Given the description of an element on the screen output the (x, y) to click on. 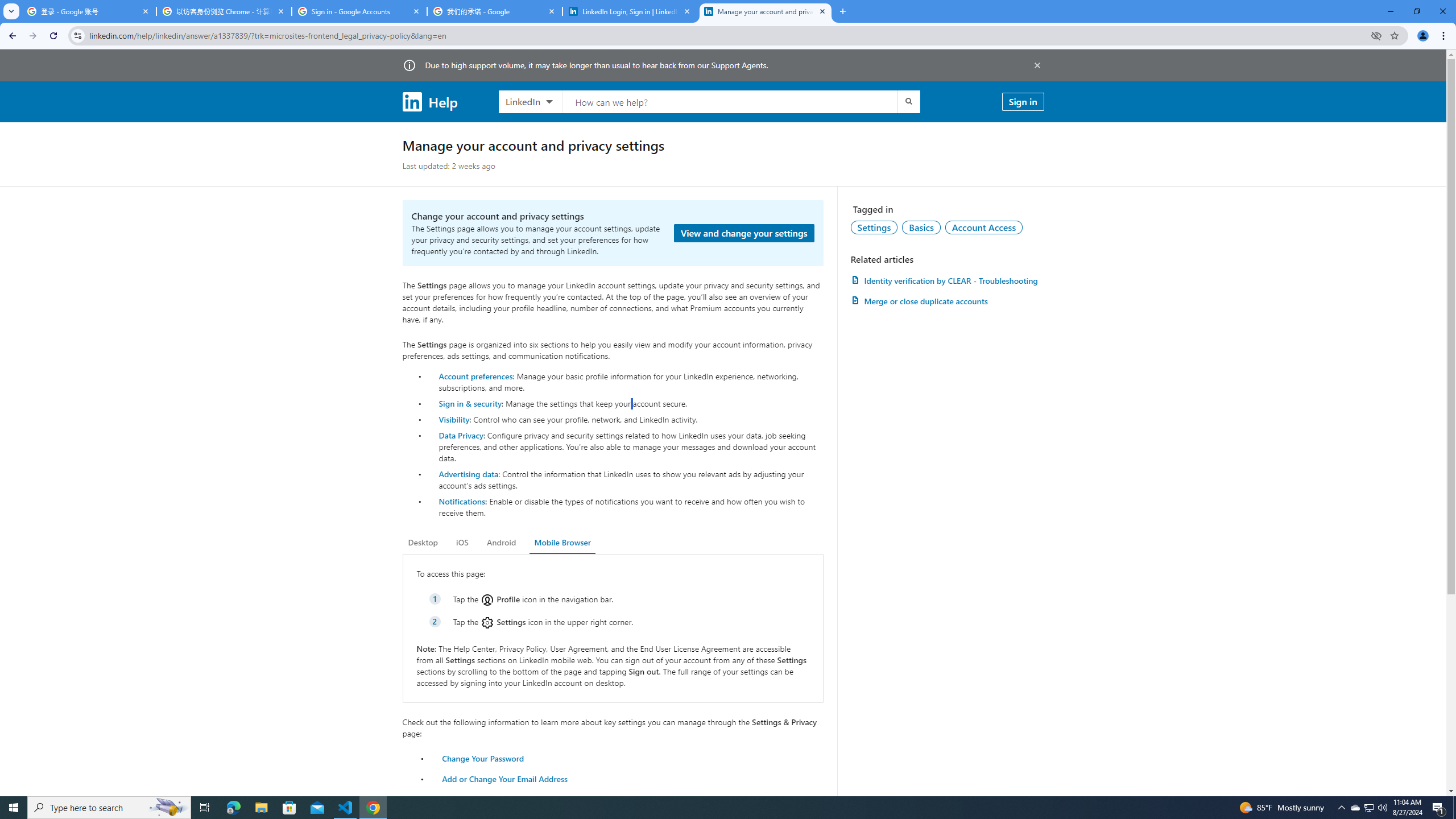
Account Access (983, 227)
View and change your settings (743, 232)
Merge or close duplicate accounts (946, 300)
iOS (462, 542)
LinkedIn products to search, LinkedIn selected (530, 101)
